Given the description of an element on the screen output the (x, y) to click on. 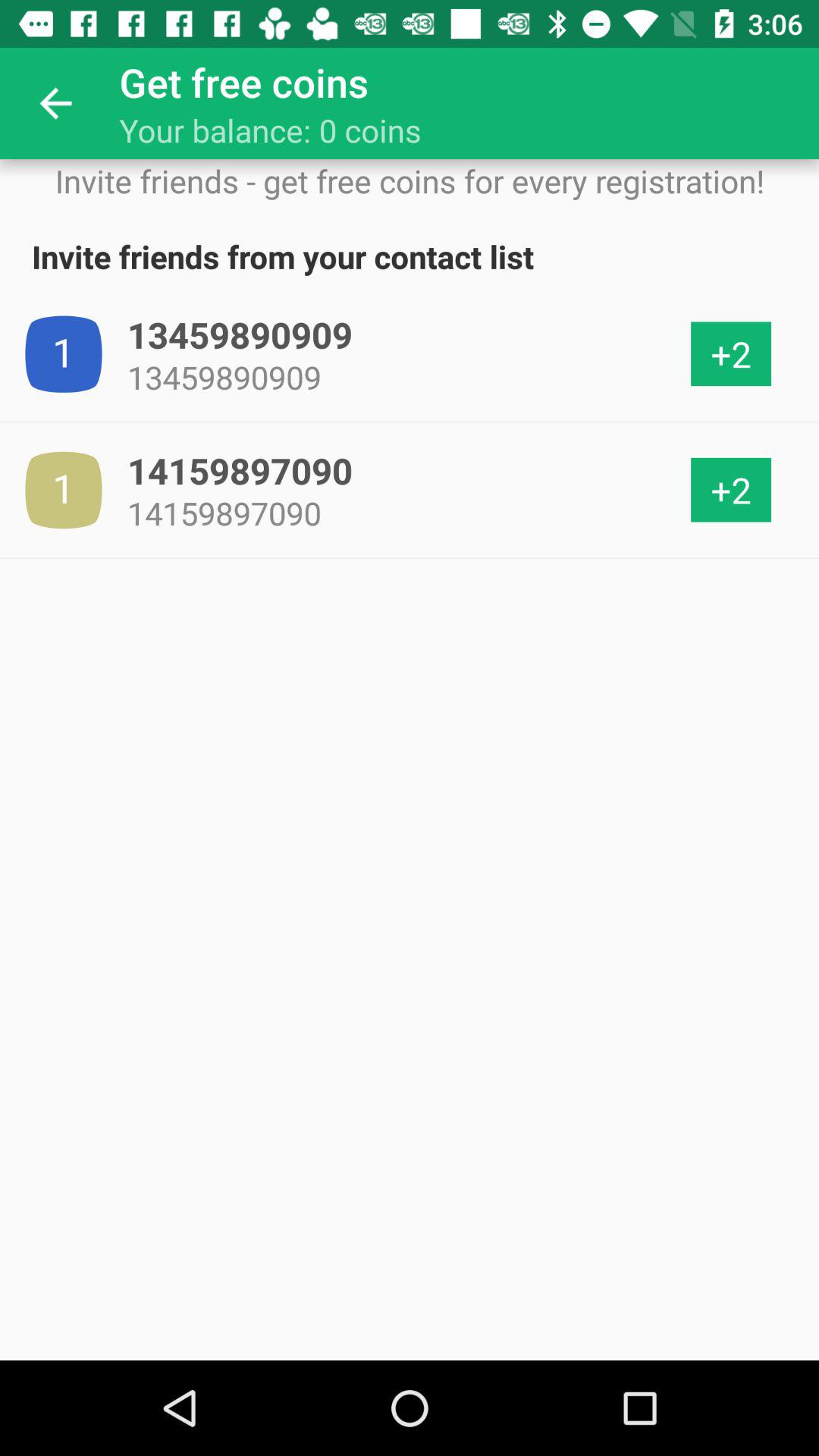
choose the item above invite friends get icon (55, 103)
